Given the description of an element on the screen output the (x, y) to click on. 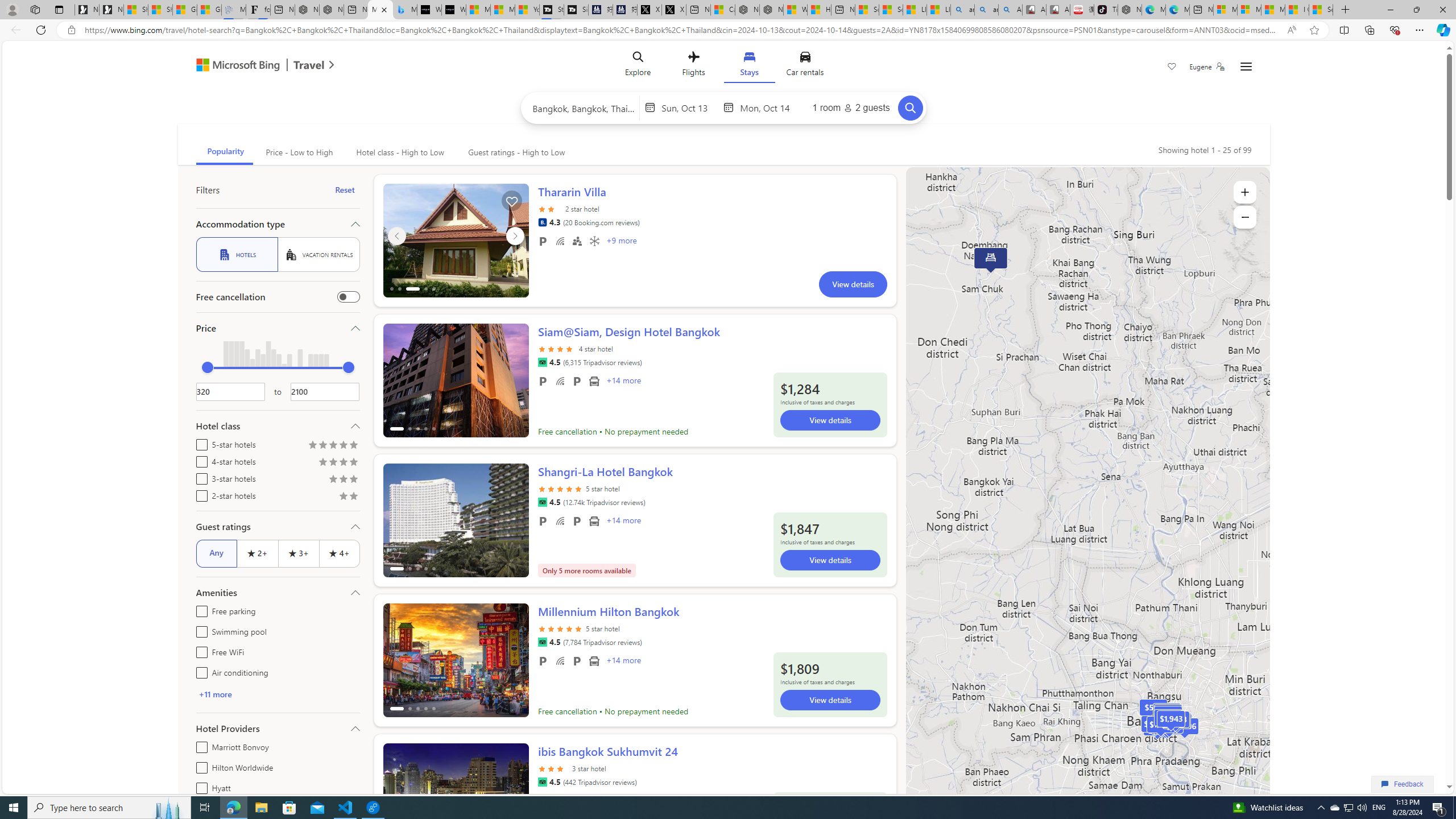
Price - Low to High (298, 152)
+14 More Amenities (622, 661)
Air conditioning (593, 240)
2-star hotels (199, 493)
Air conditioning (199, 670)
Save to collections (511, 200)
Flights (693, 65)
Amenities (277, 592)
Free WiFi (559, 660)
Accommodation type (277, 223)
